Given the description of an element on the screen output the (x, y) to click on. 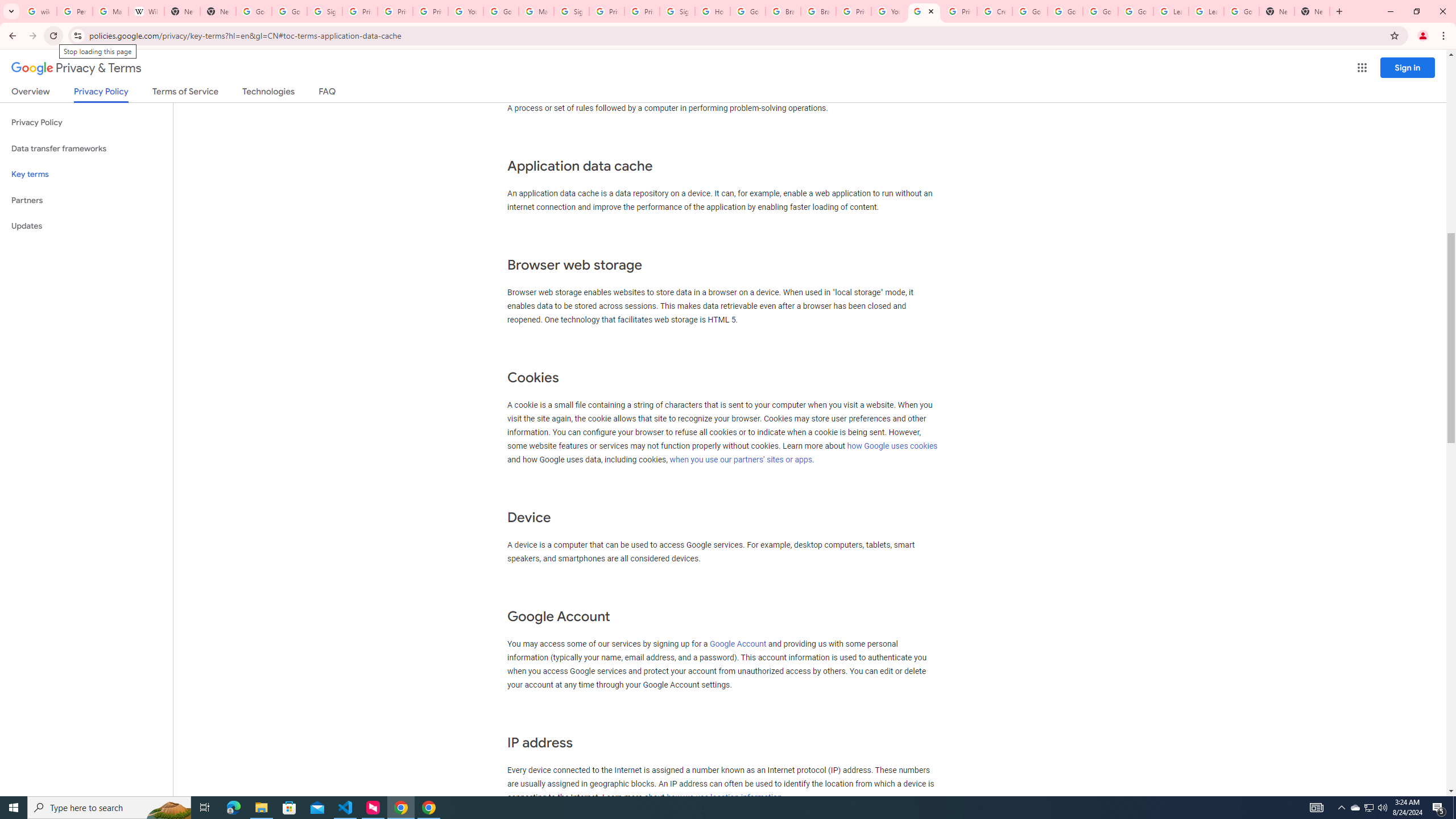
Google Account Help (501, 11)
when you use our partners' sites or apps (740, 459)
Sign in - Google Accounts (571, 11)
Sign in - Google Accounts (677, 11)
how we use location information. (725, 796)
